Given the description of an element on the screen output the (x, y) to click on. 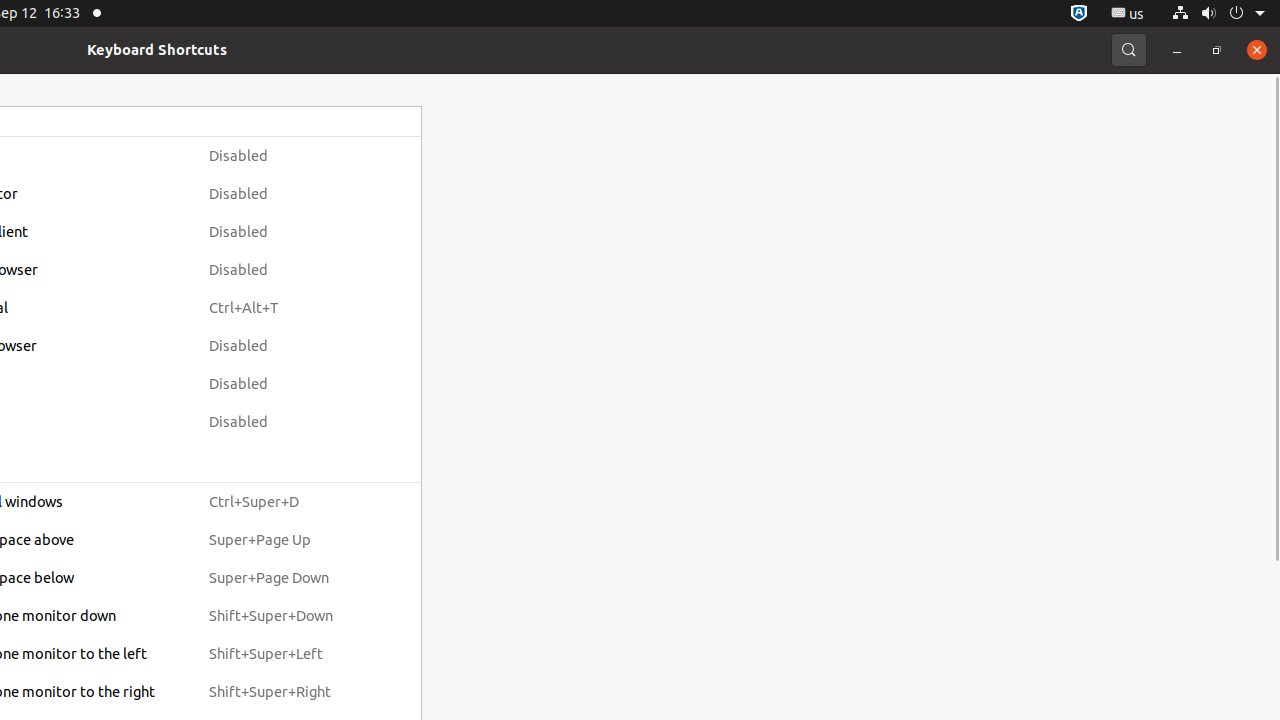
Ctrl+Super+D Element type: label (289, 502)
Ctrl+Alt+T Element type: label (289, 308)
Shift+Super+Left Element type: label (289, 654)
Minimize Element type: push-button (1177, 50)
